Given the description of an element on the screen output the (x, y) to click on. 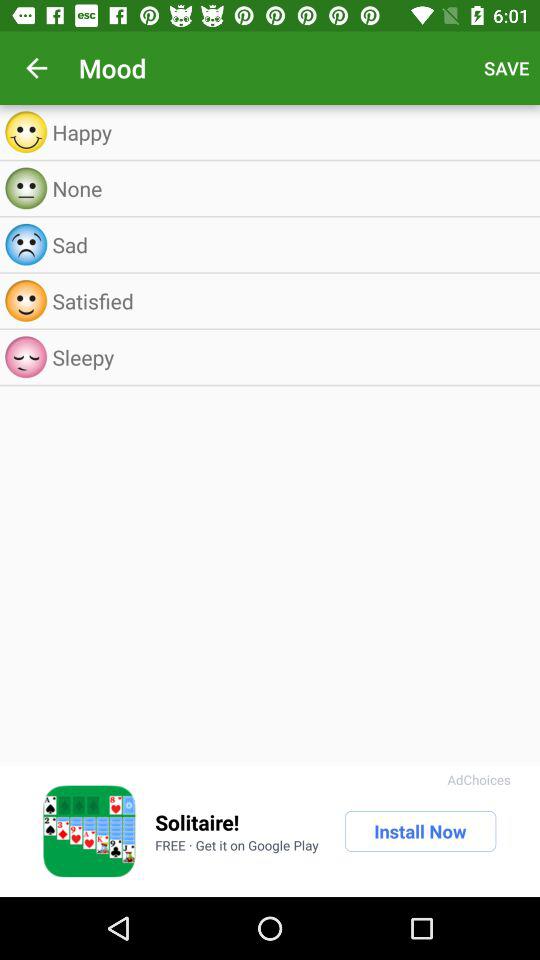
open item below adchoices app (420, 831)
